Given the description of an element on the screen output the (x, y) to click on. 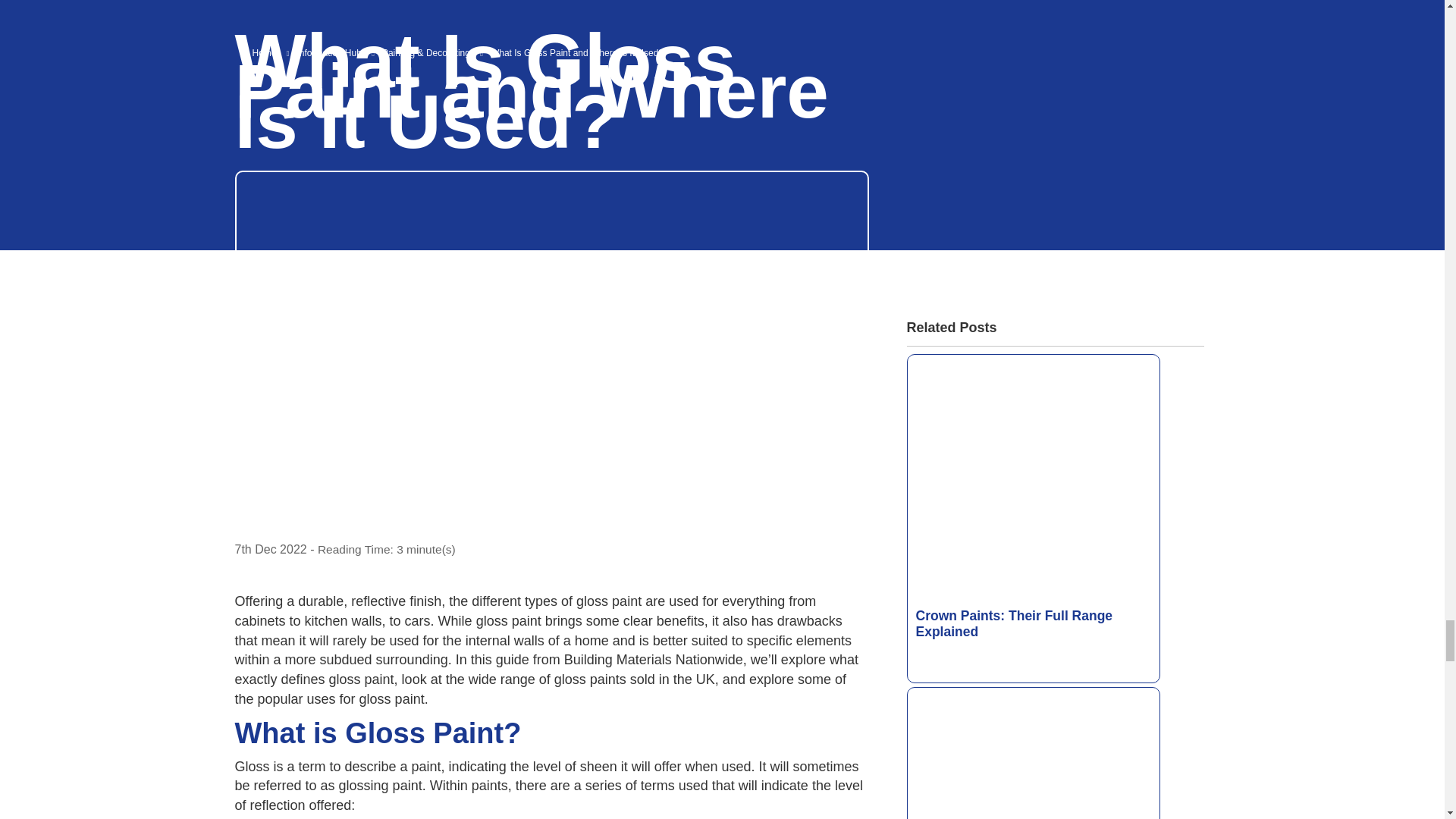
What Is Gloss Paint and Where Is It Used? (551, 799)
Go to Information Hub Page (331, 52)
Go to Home Page (264, 52)
